Given the description of an element on the screen output the (x, y) to click on. 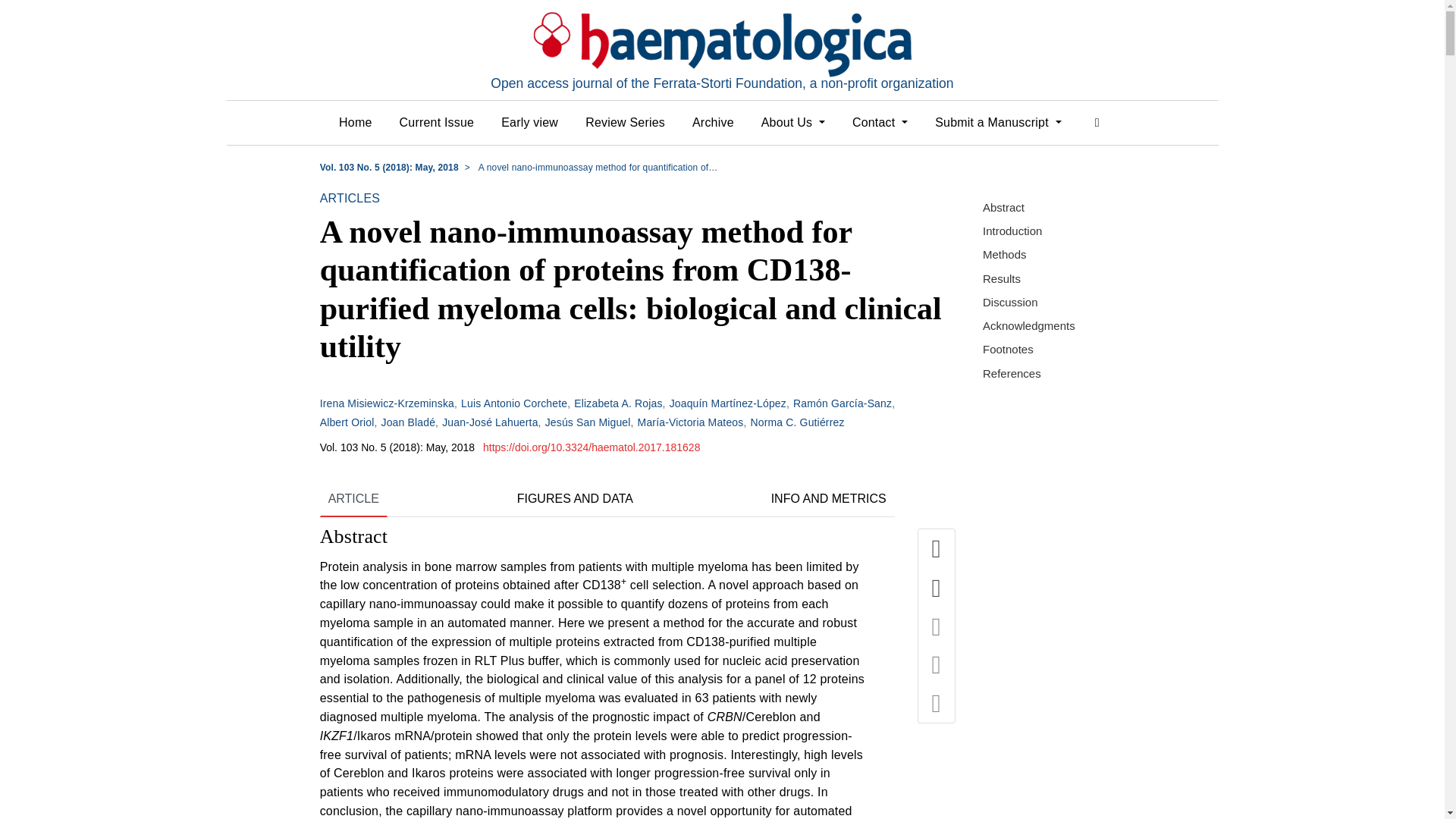
Elizabeta A. Rojas (617, 402)
About Us (793, 122)
Albert Oriol (347, 421)
Luis Antonio Corchete (514, 402)
Submit a Manuscript (997, 122)
Early view (529, 122)
Archive (712, 122)
Home (355, 122)
Review Series (625, 122)
Contact (879, 122)
Current Issue (436, 122)
Irena Misiewicz-Krzeminska (387, 402)
